Given the description of an element on the screen output the (x, y) to click on. 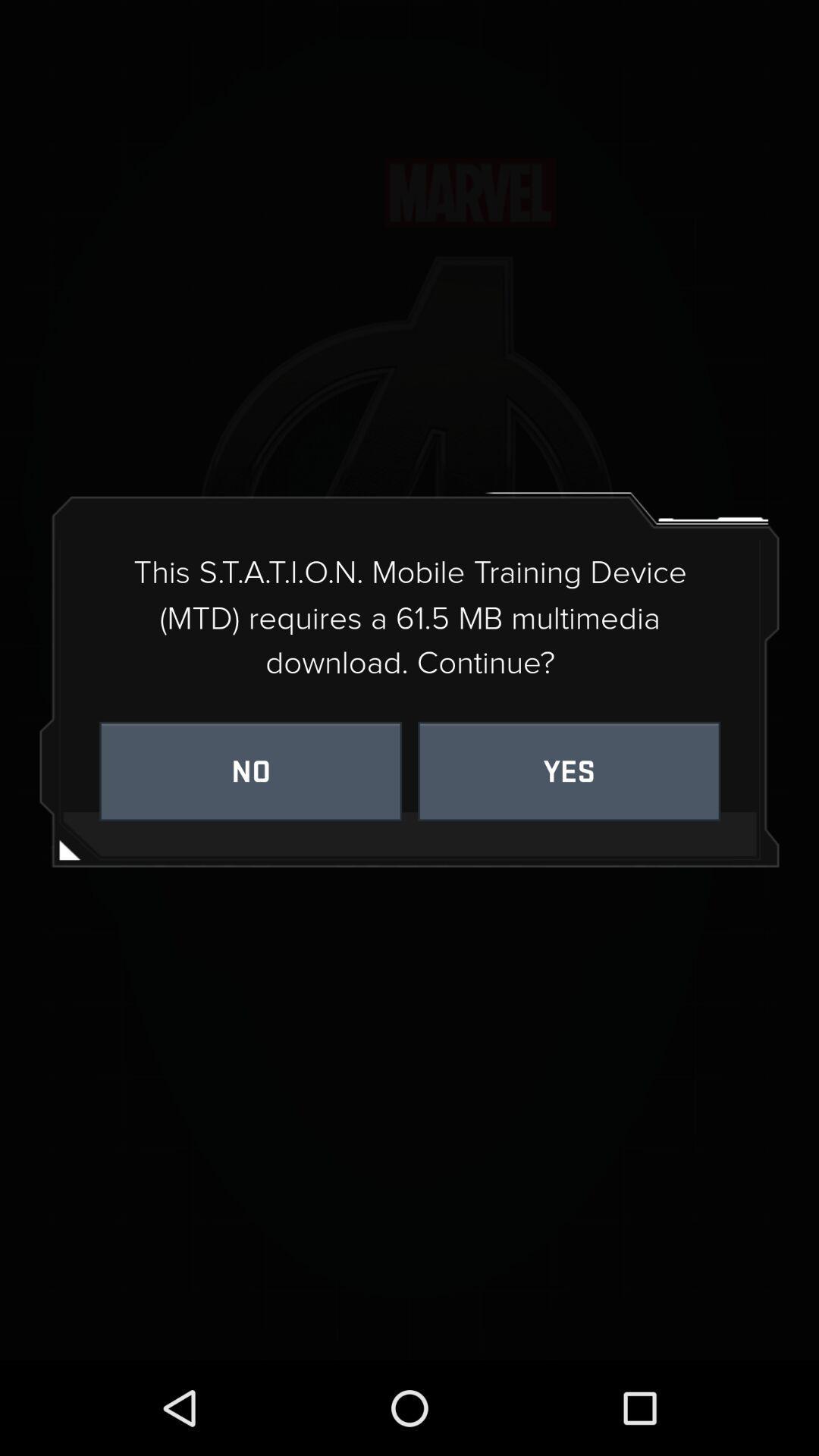
tap the yes (569, 771)
